Given the description of an element on the screen output the (x, y) to click on. 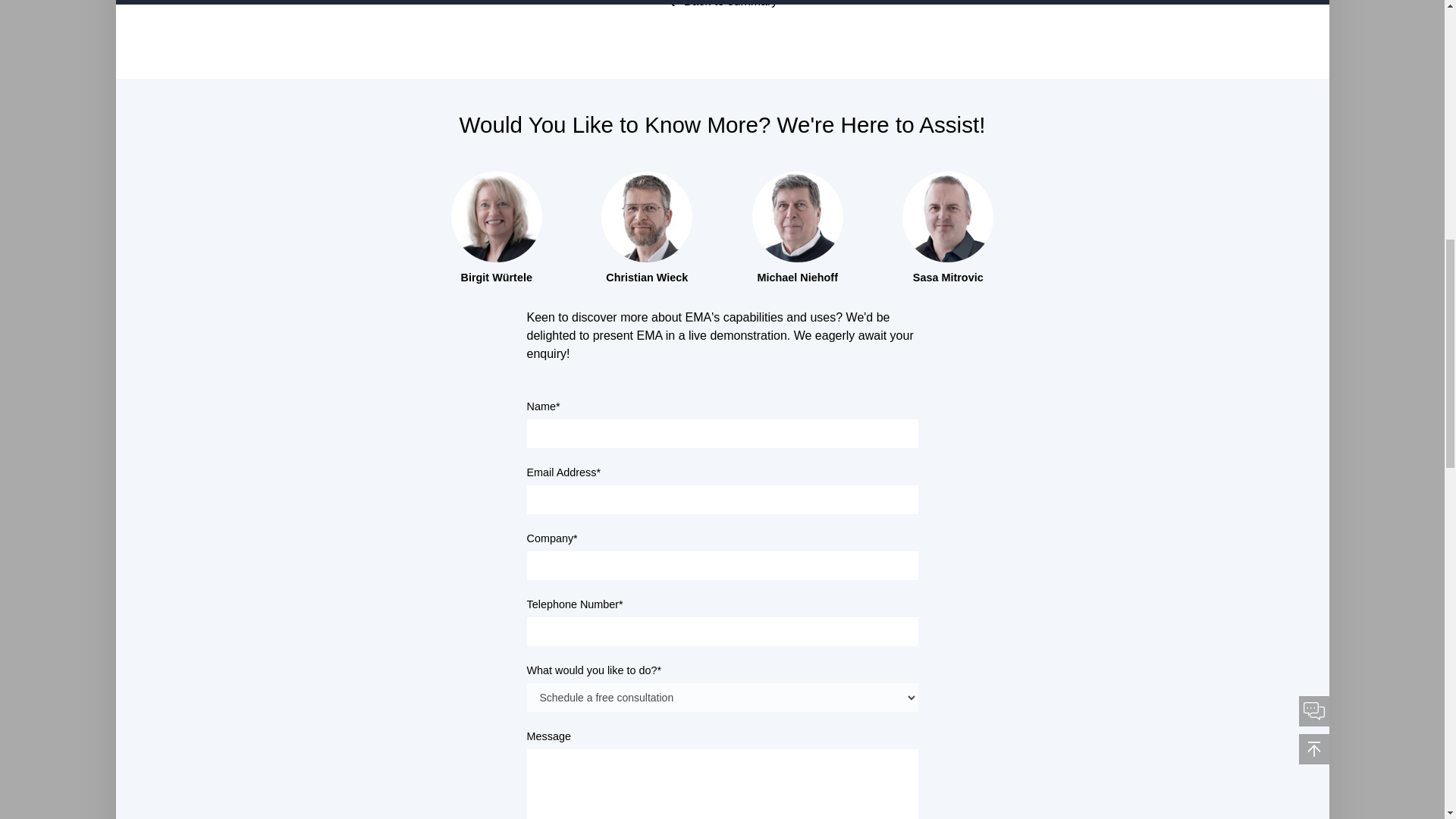
Back to summary (721, 9)
